Given the description of an element on the screen output the (x, y) to click on. 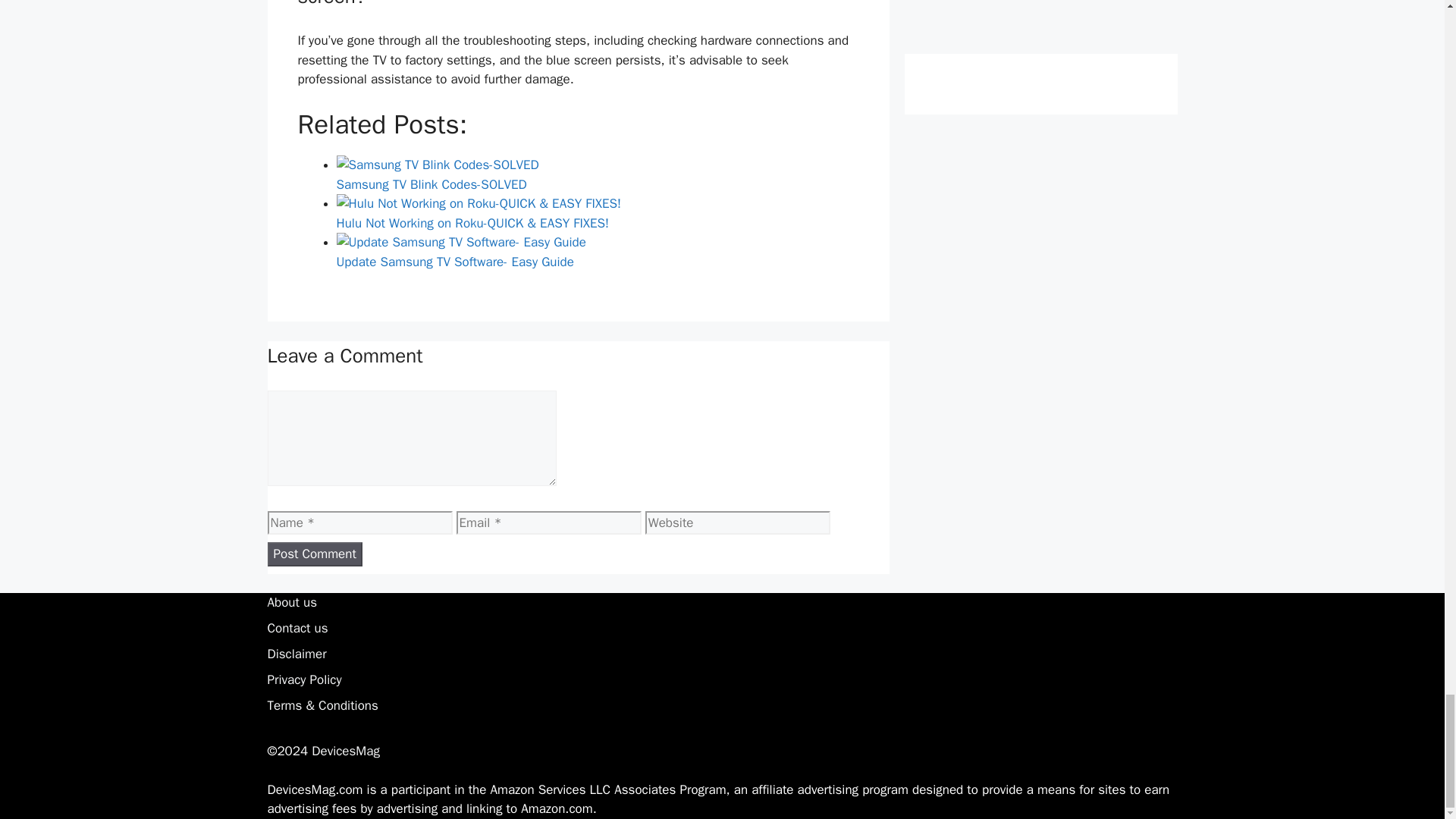
Update Samsung TV Software- Easy Guide (597, 251)
Samsung TV Blink Codes-SOLVED (597, 173)
About us (291, 602)
Samsung TV Blink Codes-SOLVED (437, 165)
Update Samsung TV Software- Easy Guide (461, 242)
Contact us (296, 627)
Post Comment (313, 554)
Post Comment (313, 554)
